Given the description of an element on the screen output the (x, y) to click on. 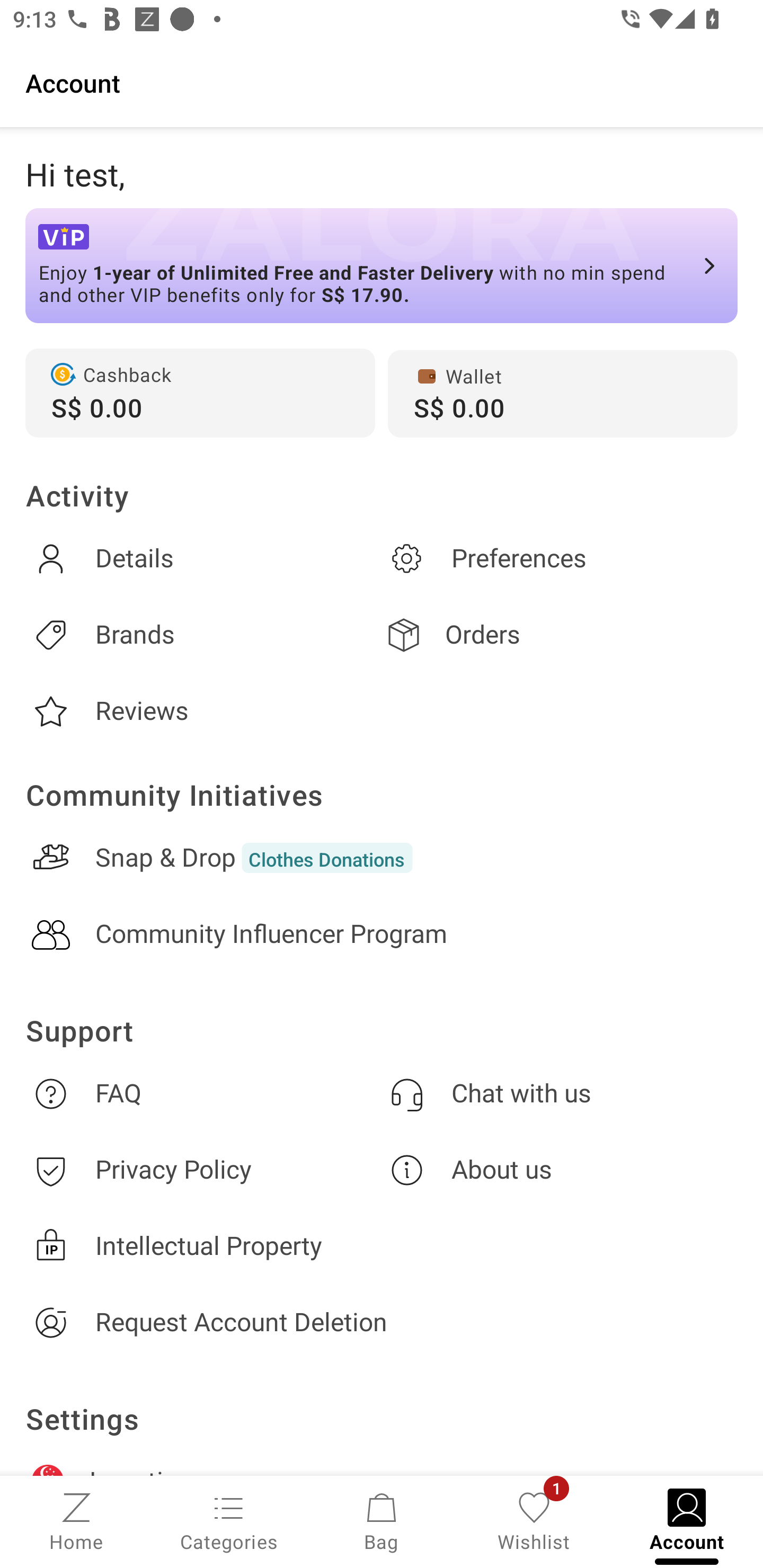
Account (381, 82)
Details (203, 558)
Preferences (559, 558)
Brands (203, 634)
Orders (559, 634)
Reviews (203, 710)
Snap & DropClothes Donations (381, 858)
Community Influencer Program (381, 934)
FAQ (203, 1093)
Chat with us (559, 1093)
Privacy Policy (203, 1170)
About us (559, 1170)
Intellectual Property (381, 1246)
Request Account Deletion (381, 1322)
Home (76, 1519)
Categories (228, 1519)
Bag (381, 1519)
Wishlist, 1 new notification Wishlist (533, 1519)
